Given the description of an element on the screen output the (x, y) to click on. 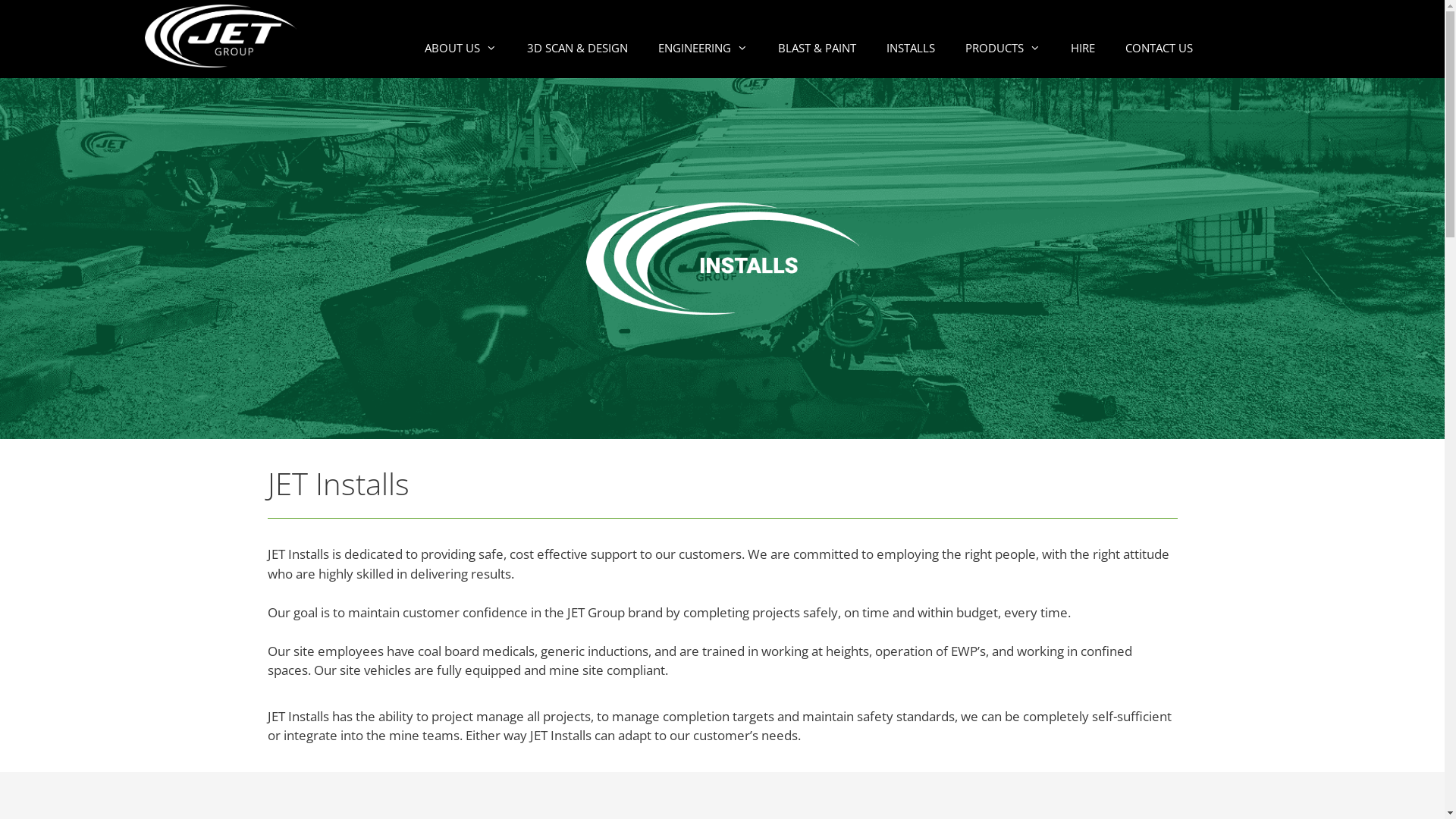
HIRE Element type: text (1082, 47)
ABOUT US Element type: text (460, 47)
INSTALLS Element type: text (909, 47)
CONTACT US Element type: text (1159, 47)
BLAST & PAINT Element type: text (816, 47)
3D SCAN & DESIGN Element type: text (576, 47)
PRODUCTS Element type: text (1001, 47)
ENGINEERING Element type: text (702, 47)
